Given the description of an element on the screen output the (x, y) to click on. 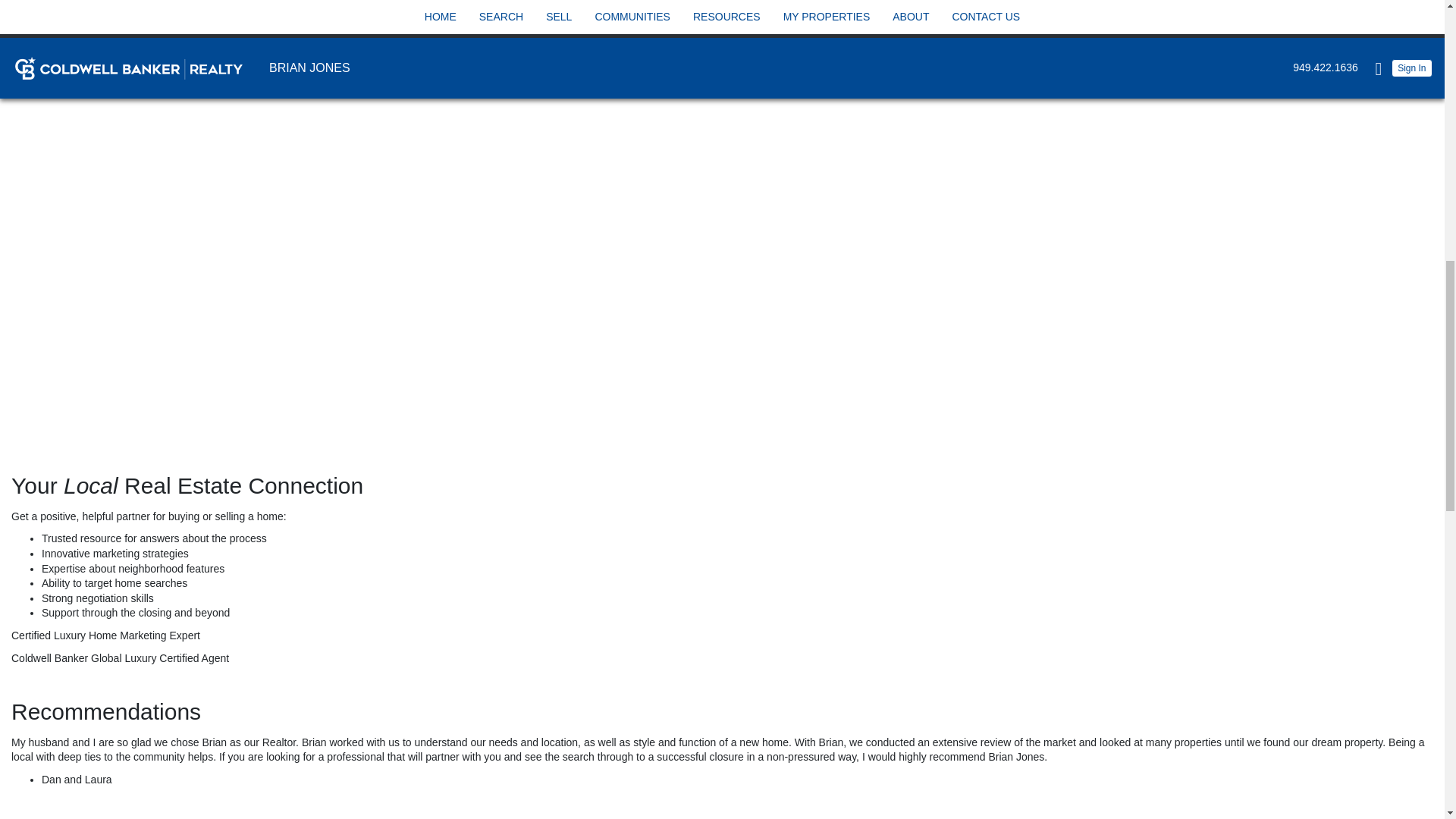
LAGUNA NIGUEL (871, 55)
SAN CLEMENTE (1191, 4)
SAN JUAN CAPISTRANO (1212, 55)
LAGUNA BEACH (549, 55)
CRYSTAL COVE (868, 4)
IRVINE (525, 4)
